Given the description of an element on the screen output the (x, y) to click on. 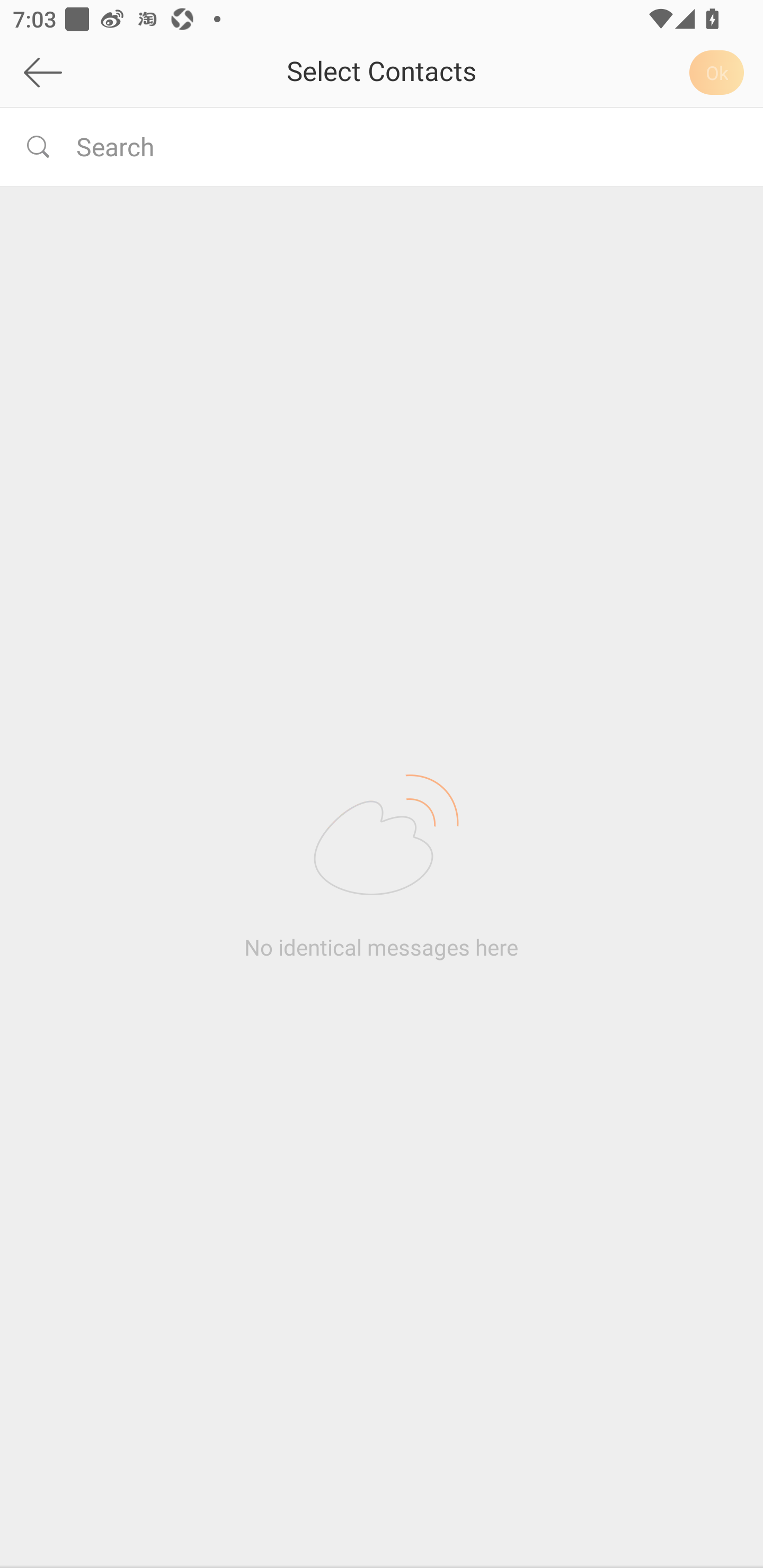
Back (92, 71)
Ok (719, 71)
Search (406, 146)
